Given the description of an element on the screen output the (x, y) to click on. 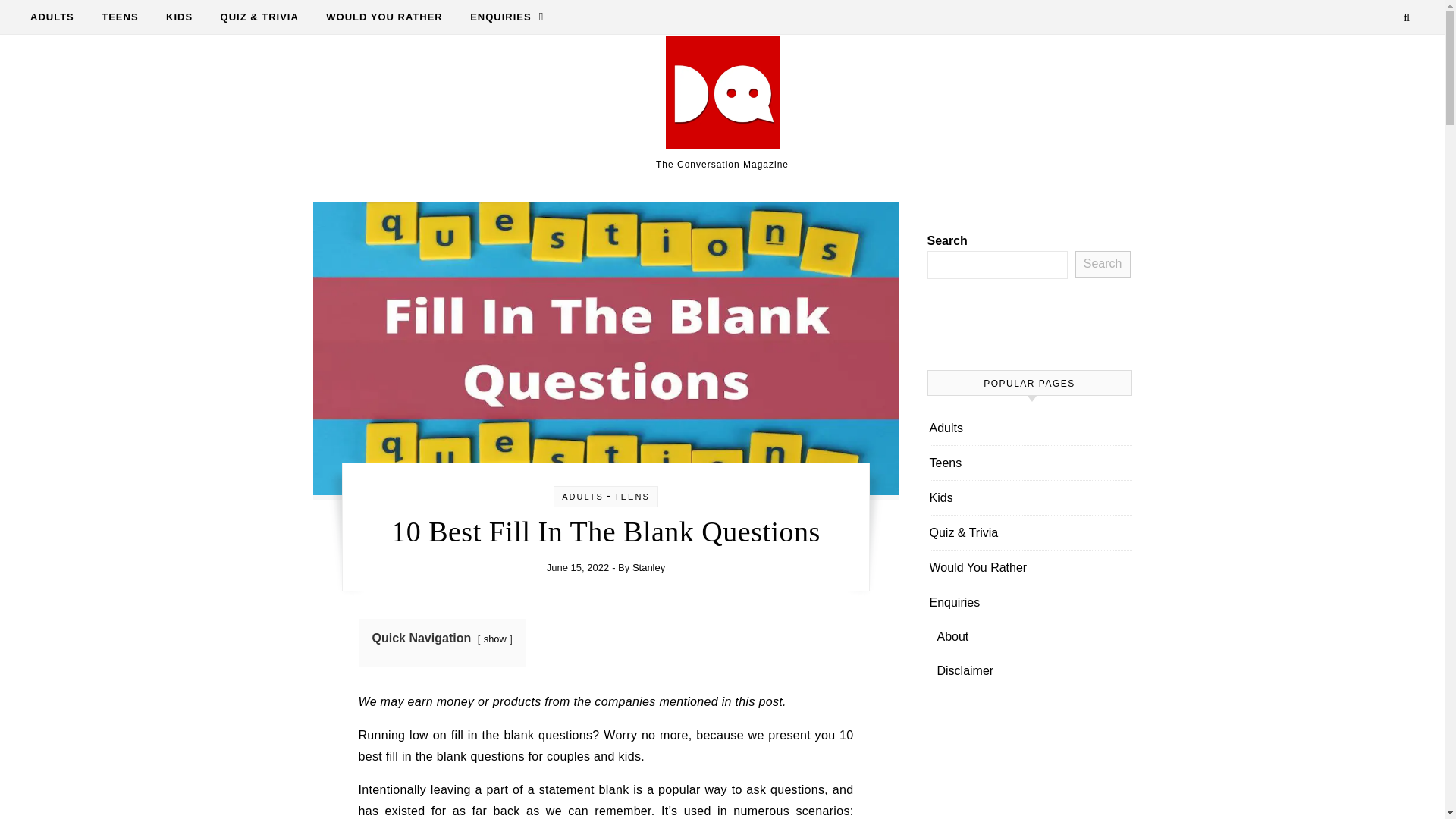
ENQUIRIES (500, 17)
TEENS (631, 496)
ADULTS (583, 496)
WOULD YOU RATHER (384, 17)
ADULTS (57, 17)
KIDS (179, 17)
show (494, 638)
Stanley (648, 567)
Domestic Questions (721, 96)
TEENS (118, 17)
